Given the description of an element on the screen output the (x, y) to click on. 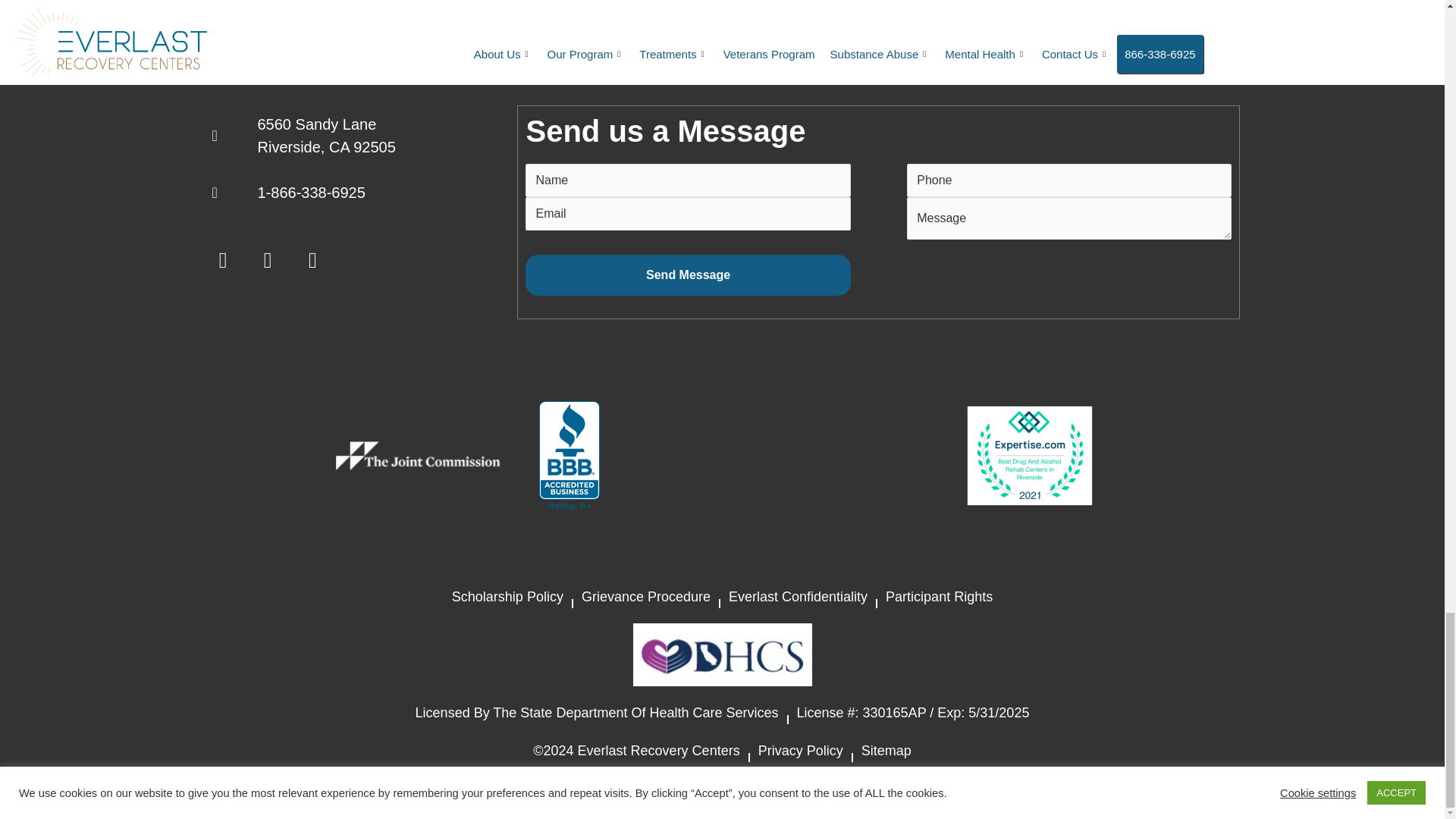
Send Message (687, 274)
